Given the description of an element on the screen output the (x, y) to click on. 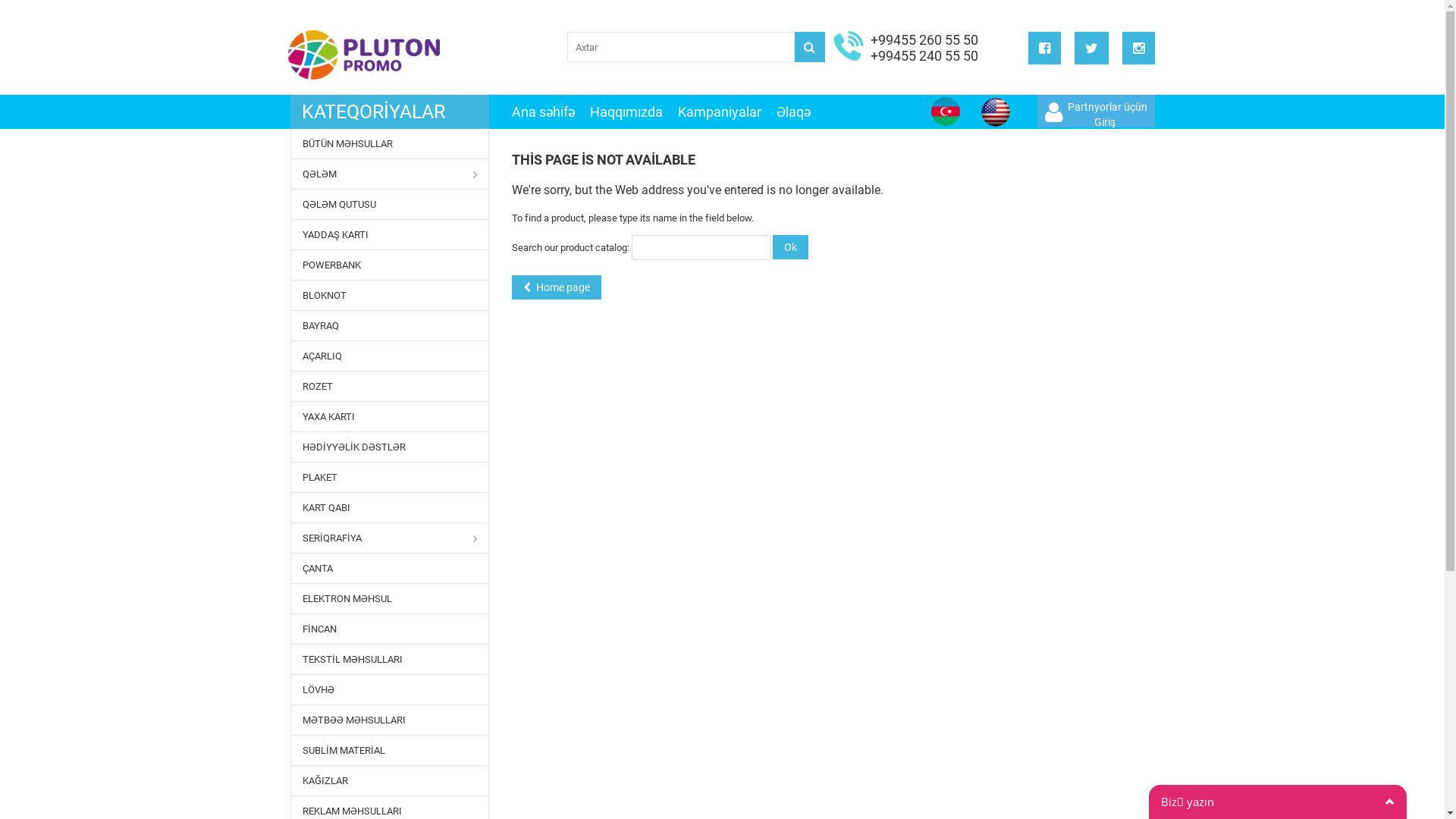
Kampaniyalar Element type: text (719, 111)
FINCAN Element type: text (390, 628)
PLAKET Element type: text (390, 477)
ROZET Element type: text (390, 386)
KART QABI Element type: text (390, 507)
BAYRAQ Element type: text (390, 325)
Ok Element type: text (790, 247)
Home page Element type: text (556, 287)
Pluton Promo Element type: hover (363, 75)
SERIQRAFIYA Element type: text (390, 537)
POWERBANK Element type: text (390, 264)
BLOKNOT Element type: text (390, 295)
SUBLIM MATERIAL Element type: text (390, 750)
YAXA KARTI Element type: text (390, 416)
